Given the description of an element on the screen output the (x, y) to click on. 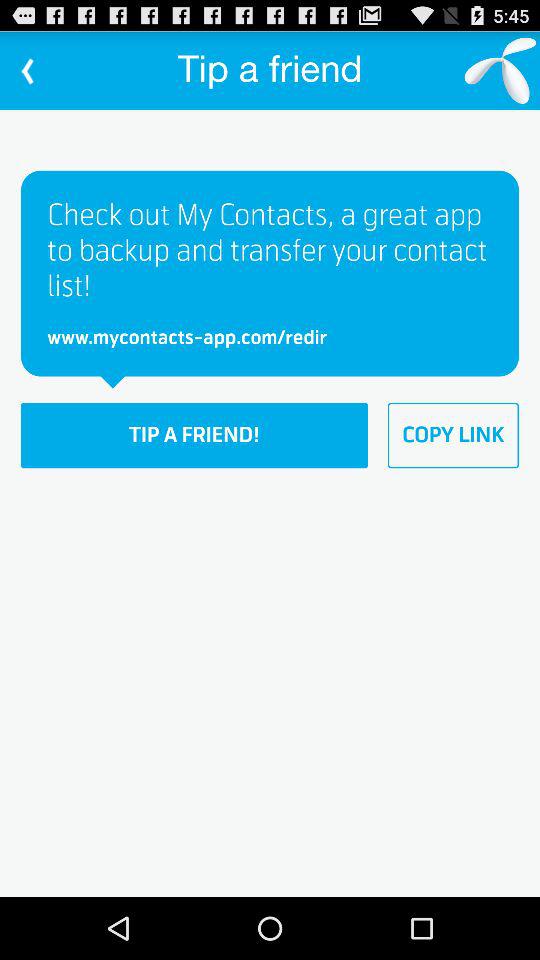
turn off the item to the right of tip a friend! (453, 435)
